Given the description of an element on the screen output the (x, y) to click on. 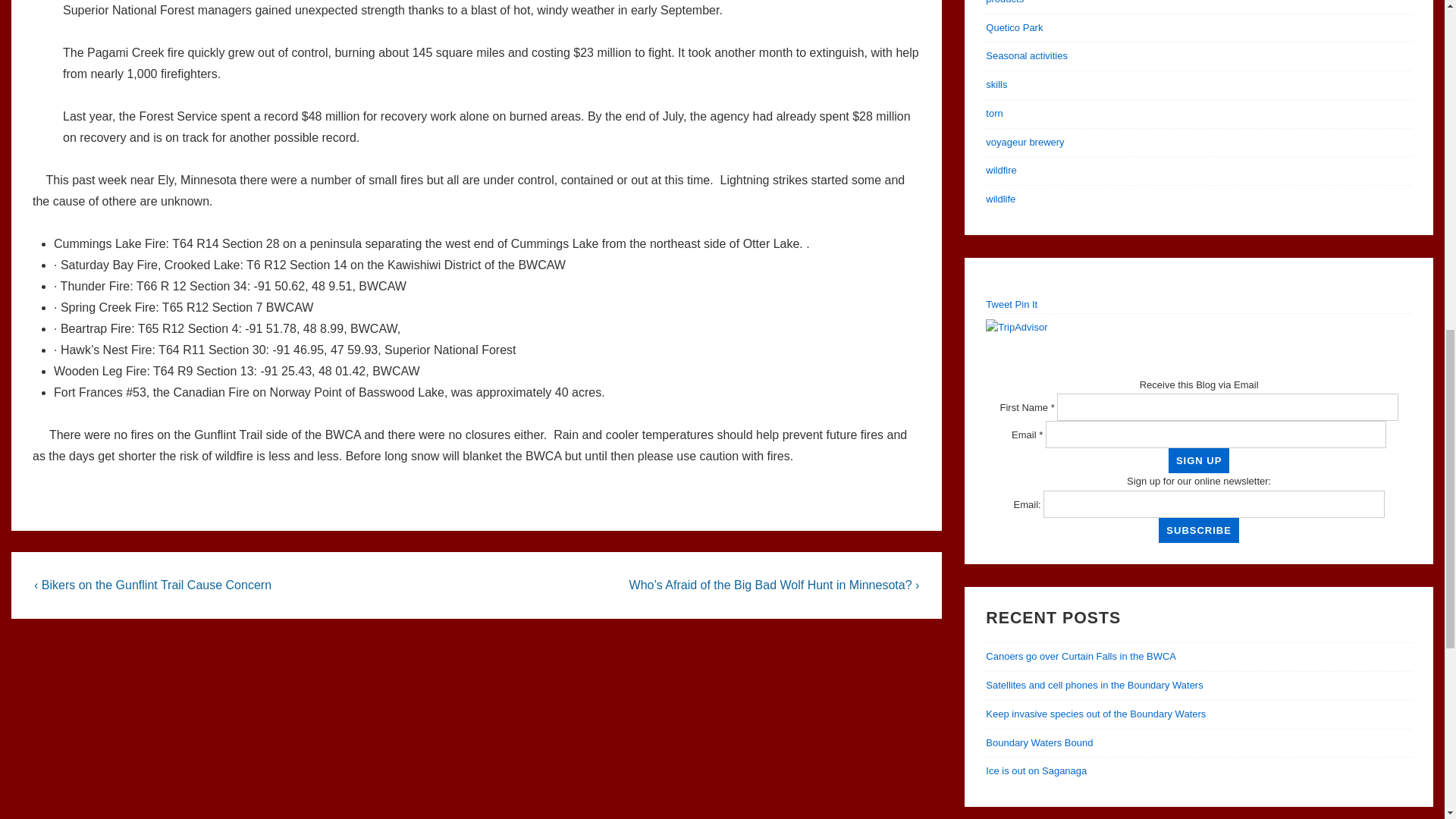
Quetico Park (1013, 27)
products (1004, 2)
Sign Up (1198, 460)
Tweet (998, 304)
torn (994, 112)
Canoers go over Curtain Falls in the BWCA (1080, 655)
wildfire (1000, 170)
Subscribe (1198, 529)
Seasonal activities (1026, 55)
wildlife (999, 198)
voyageur brewery (1024, 142)
Satellites and cell phones in the Boundary Waters (1093, 685)
Sign Up (1198, 460)
Pin It (1026, 304)
Subscribe (1198, 529)
